Given the description of an element on the screen output the (x, y) to click on. 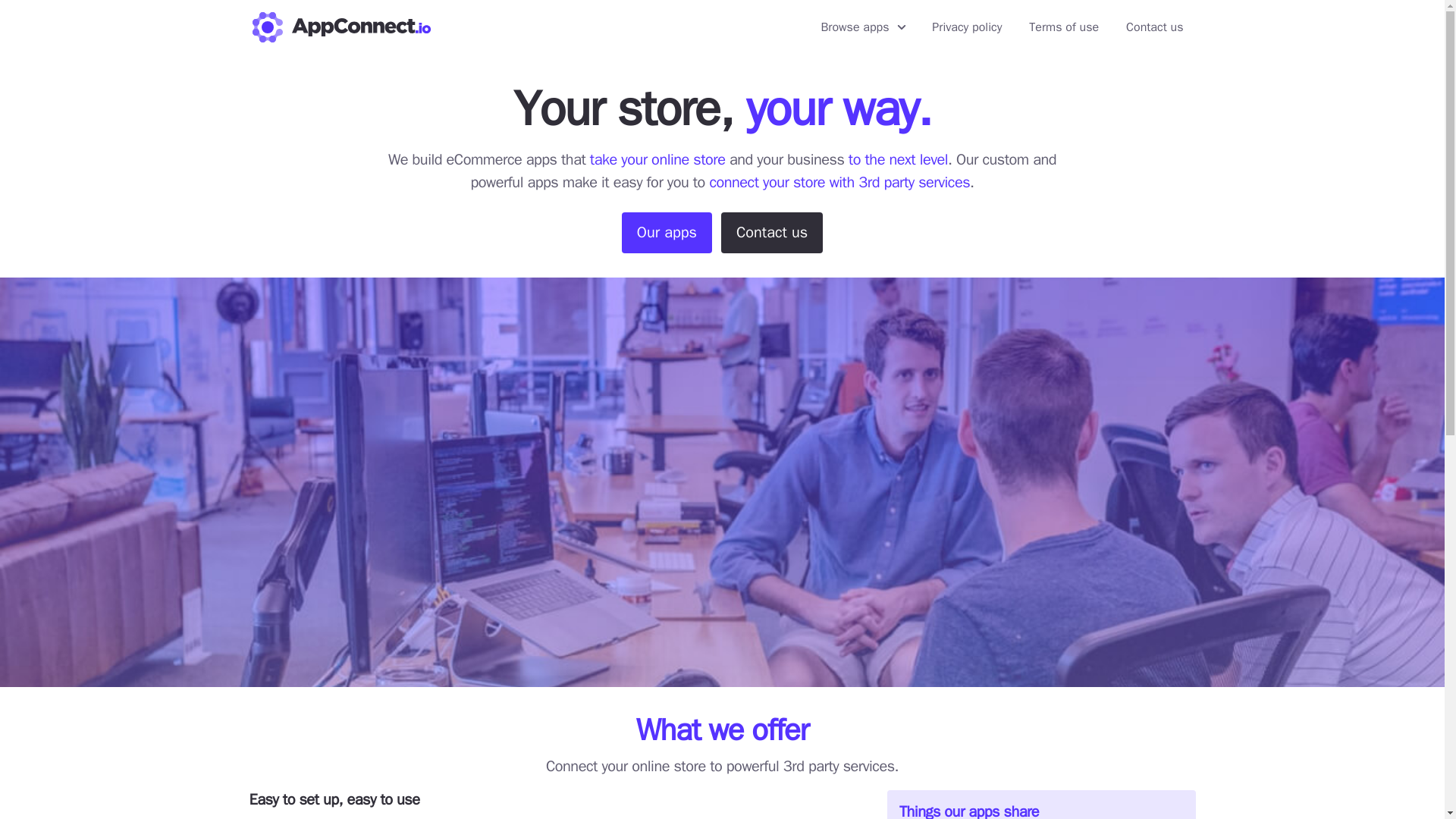
Our apps (666, 232)
Contact us (771, 232)
Browse apps (862, 27)
Contact us (1154, 27)
Privacy policy (966, 27)
Terms of use (1063, 27)
